Given the description of an element on the screen output the (x, y) to click on. 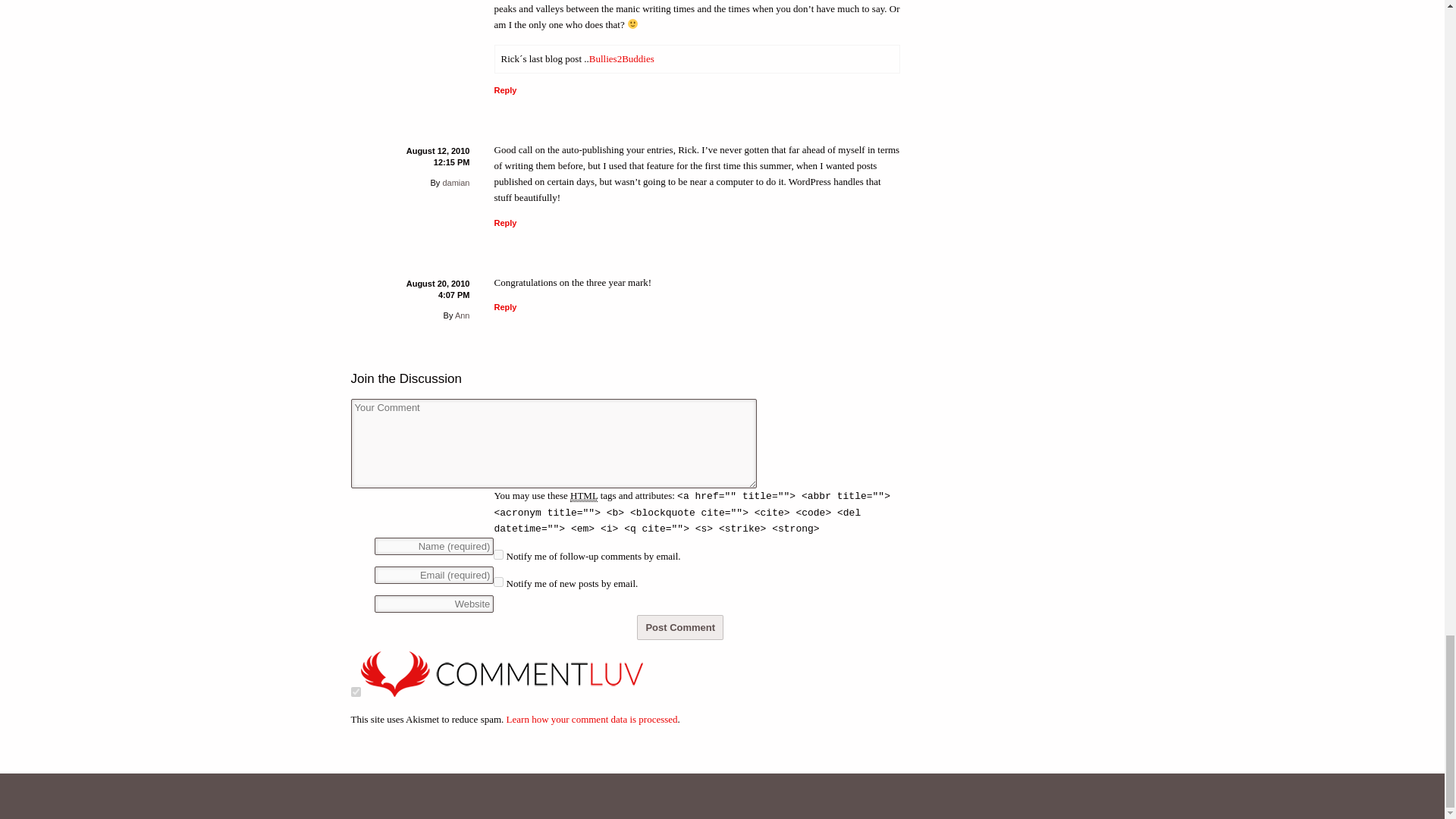
Post Comment (680, 627)
Learn how your comment data is processed (592, 718)
on (354, 691)
damian (455, 182)
Ann (462, 315)
Reply (505, 222)
Bullies2Buddies (621, 58)
Reply (505, 90)
HyperText Markup Language (583, 495)
subscribe (498, 582)
